Given the description of an element on the screen output the (x, y) to click on. 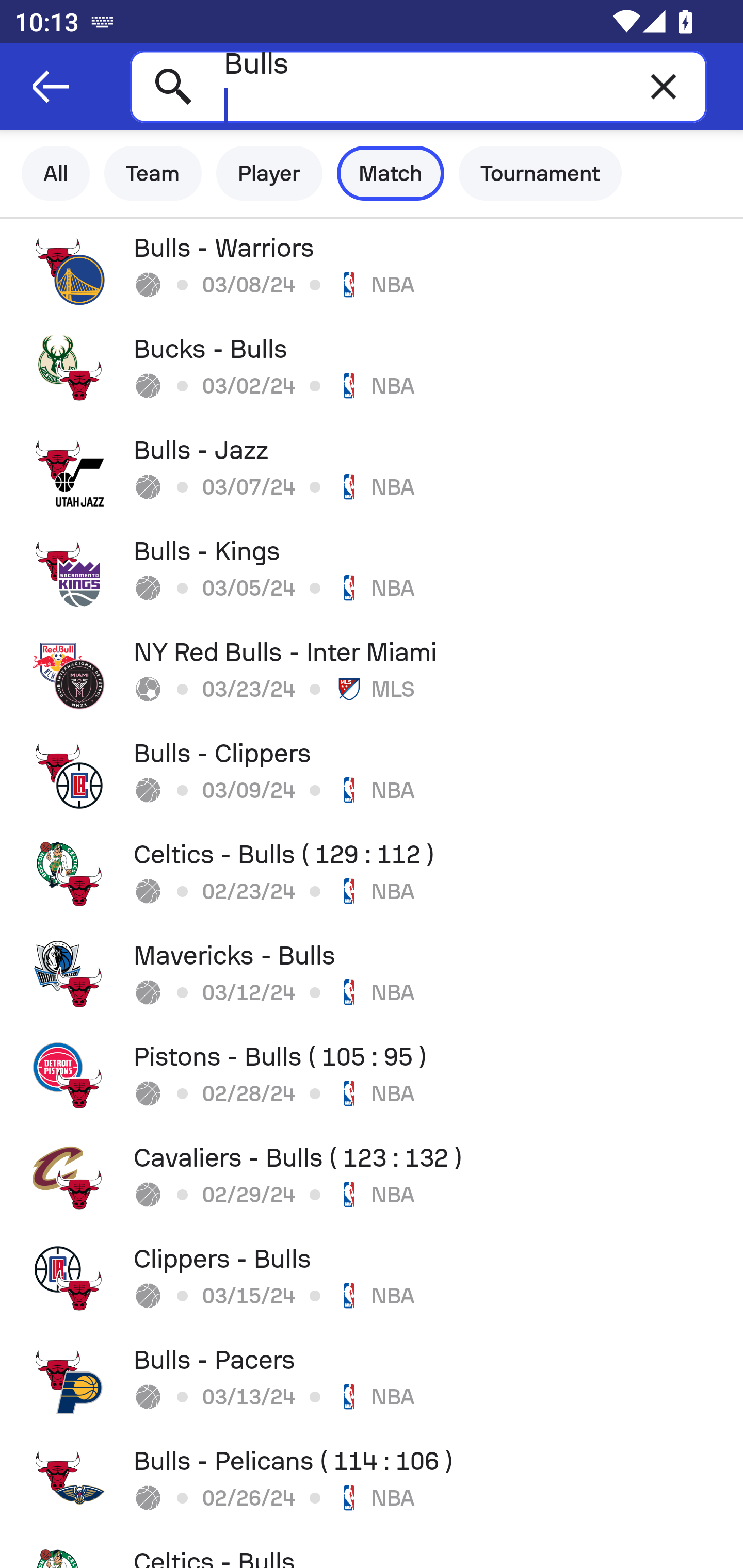
Navigate up (50, 86)
Bulls
 (418, 86)
Clear text (663, 86)
All (55, 172)
Team (152, 172)
Player (268, 172)
Match (390, 172)
Tournament (540, 172)
Bulls - Warriors 03/08/24 NBA (371, 268)
Bucks - Bulls 03/02/24 NBA (371, 369)
Bulls - Jazz 03/07/24 NBA (371, 471)
Bulls - Kings 03/05/24 NBA (371, 572)
NY Red Bulls - Inter Miami 03/23/24 MLS (371, 673)
Bulls - Clippers 03/09/24 NBA (371, 774)
Celtics - Bulls ( 129 : 112 ) 02/23/24 NBA (371, 875)
Mavericks - Bulls 03/12/24 NBA (371, 976)
Pistons - Bulls ( 105 : 95 ) 02/28/24 NBA (371, 1077)
Cavaliers - Bulls ( 123 : 132 ) 02/29/24 NBA (371, 1178)
Clippers - Bulls 03/15/24 NBA (371, 1280)
Bulls - Pacers 03/13/24 NBA (371, 1381)
Bulls - Pelicans ( 114 : 106 ) 02/26/24 NBA (371, 1482)
